Given the description of an element on the screen output the (x, y) to click on. 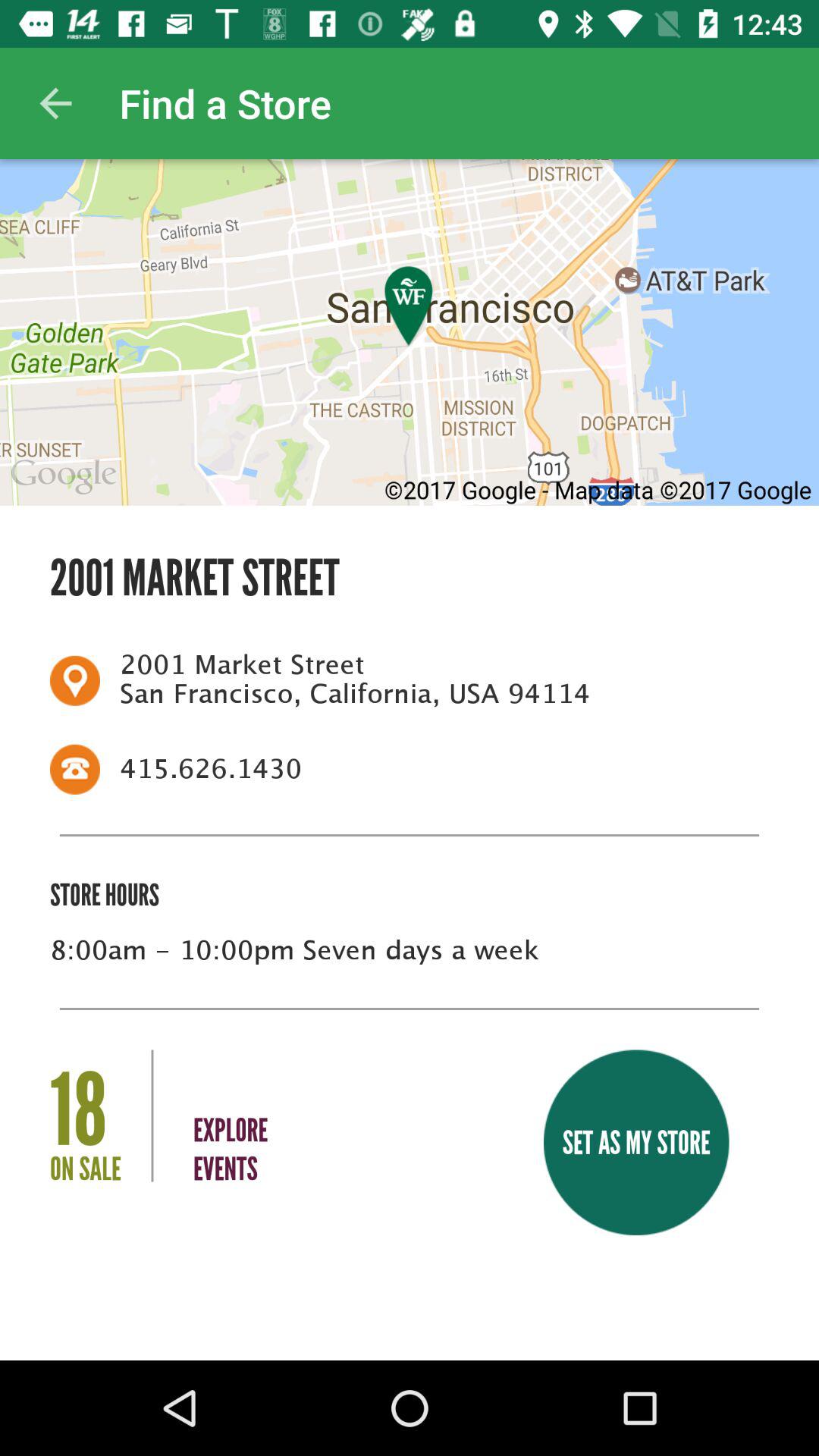
select the icon next to the find a store icon (55, 103)
